Given the description of an element on the screen output the (x, y) to click on. 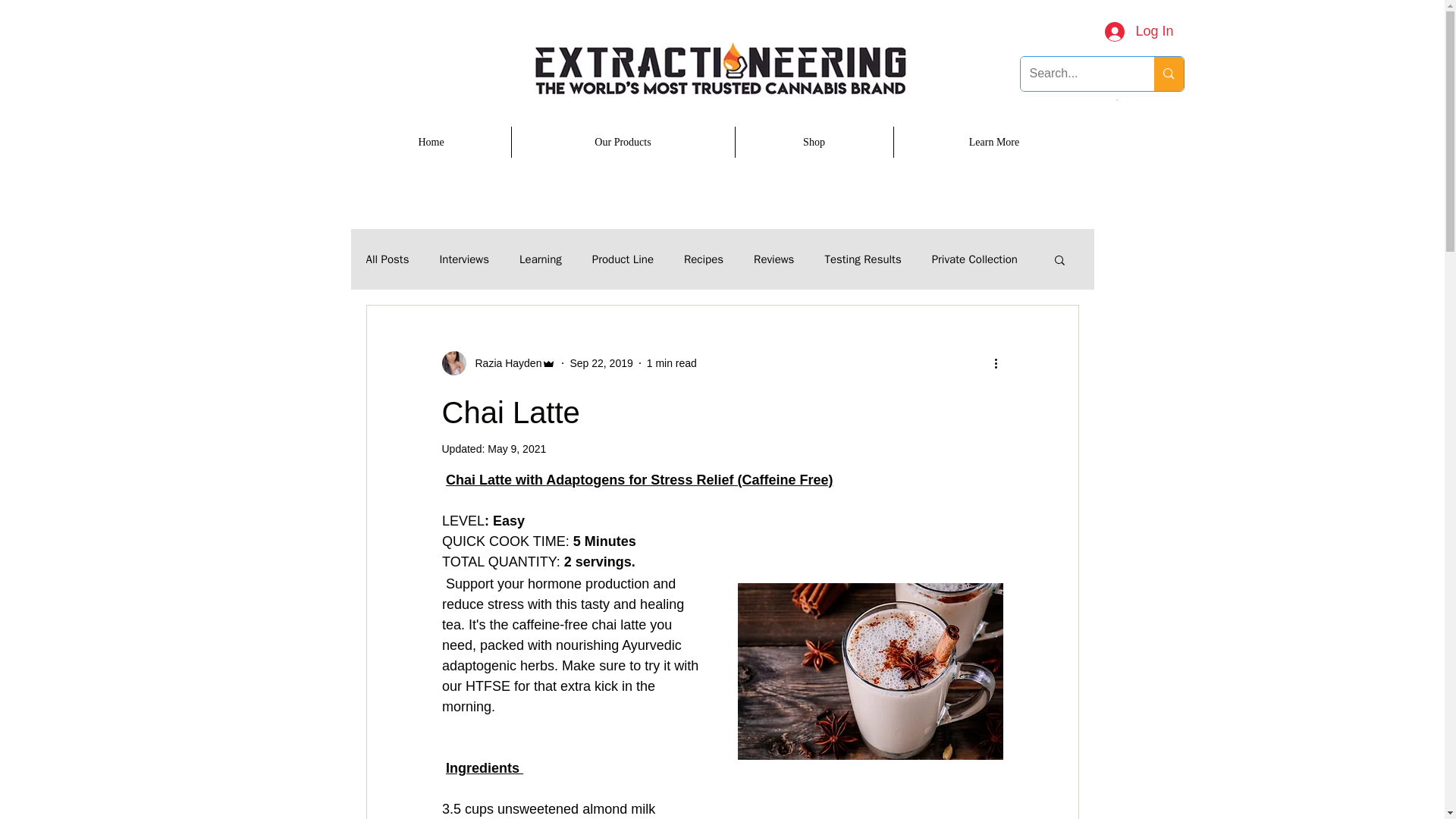
Testing Results (862, 258)
Learning (540, 258)
All Posts (387, 258)
Log In (1138, 31)
Reviews (773, 258)
Home (431, 142)
Private Collection (974, 258)
Our Products (623, 142)
May 9, 2021 (516, 449)
Shop (812, 142)
1 min read (671, 362)
Razia Hayden (503, 362)
Product Line (622, 258)
Razia Hayden (498, 363)
Interviews (464, 258)
